Given the description of an element on the screen output the (x, y) to click on. 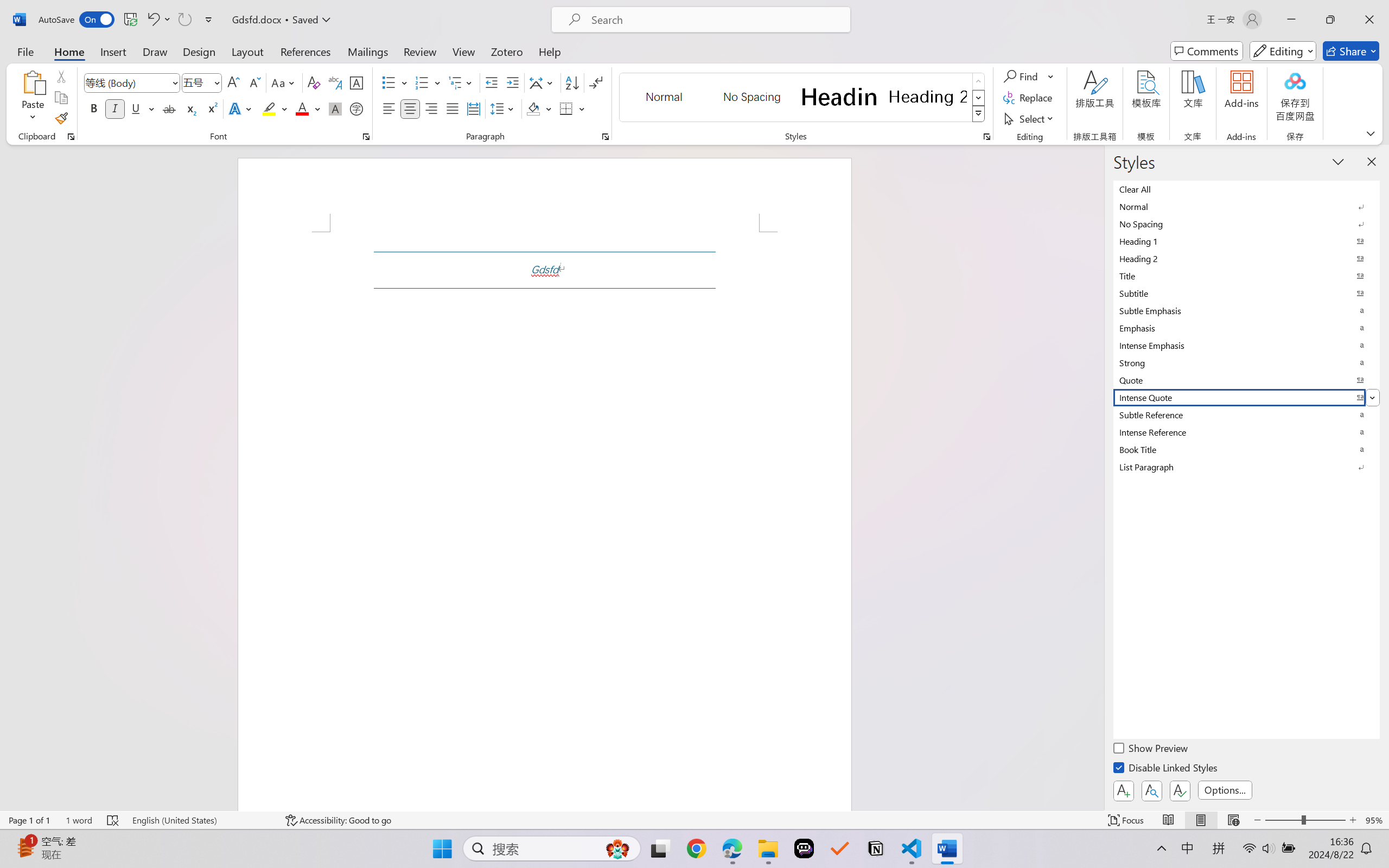
Clear Formatting (313, 82)
Heading 2 (927, 96)
Superscript (210, 108)
Align Left (388, 108)
Line and Paragraph Spacing (503, 108)
Font... (365, 136)
Styles (978, 113)
Row up (978, 81)
Options... (1224, 789)
